Given the description of an element on the screen output the (x, y) to click on. 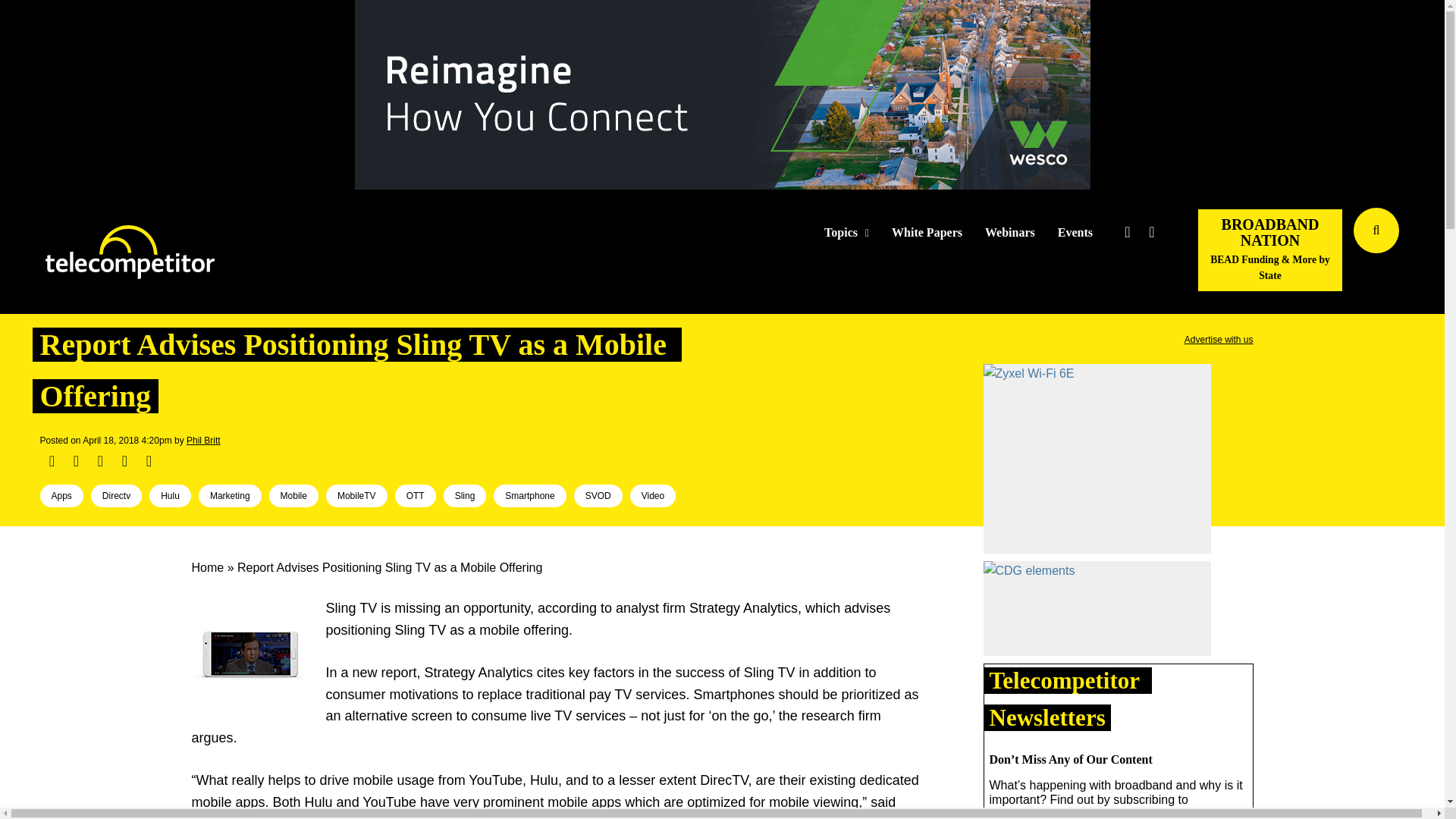
Spread the word on Twitter (75, 460)
White Papers (927, 232)
Pinterest (124, 460)
Share on Linked In (99, 460)
Follow Us on Twitter (1127, 232)
Zyxel Wi-Fi 6E (1028, 373)
Events (1074, 232)
Search telecompetitor.com (1376, 230)
Follow Us on LinkedIN (1151, 232)
Topics (846, 232)
